Given the description of an element on the screen output the (x, y) to click on. 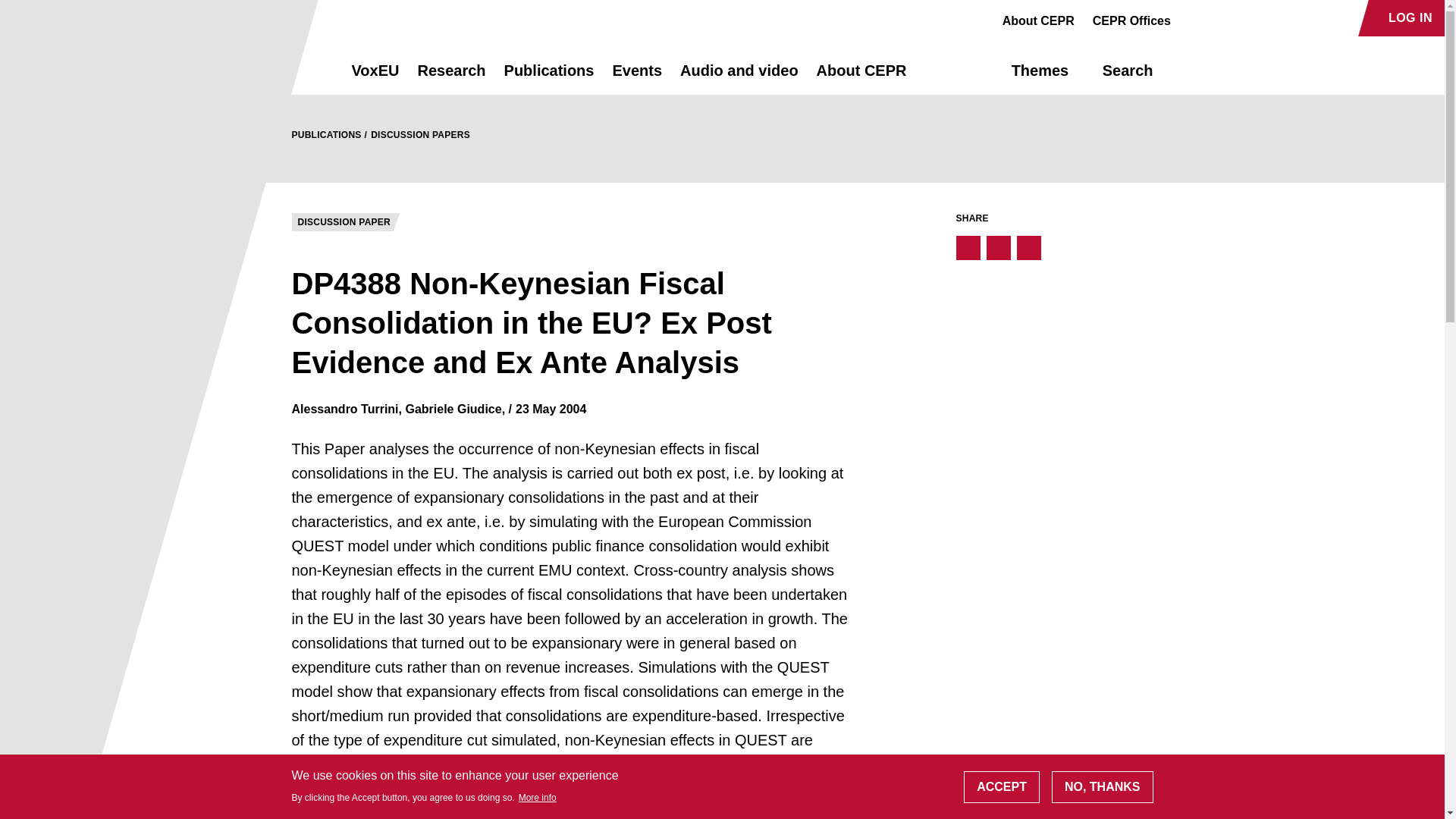
Research (450, 77)
Go to Audioboom profile (1217, 17)
Go to Facebook profile (1190, 17)
Return to the homepage (293, 69)
VoxEU (375, 77)
Go to Linkedin profile (1243, 18)
Publications (548, 77)
Events (636, 77)
Audio and video (738, 77)
